Given the description of an element on the screen output the (x, y) to click on. 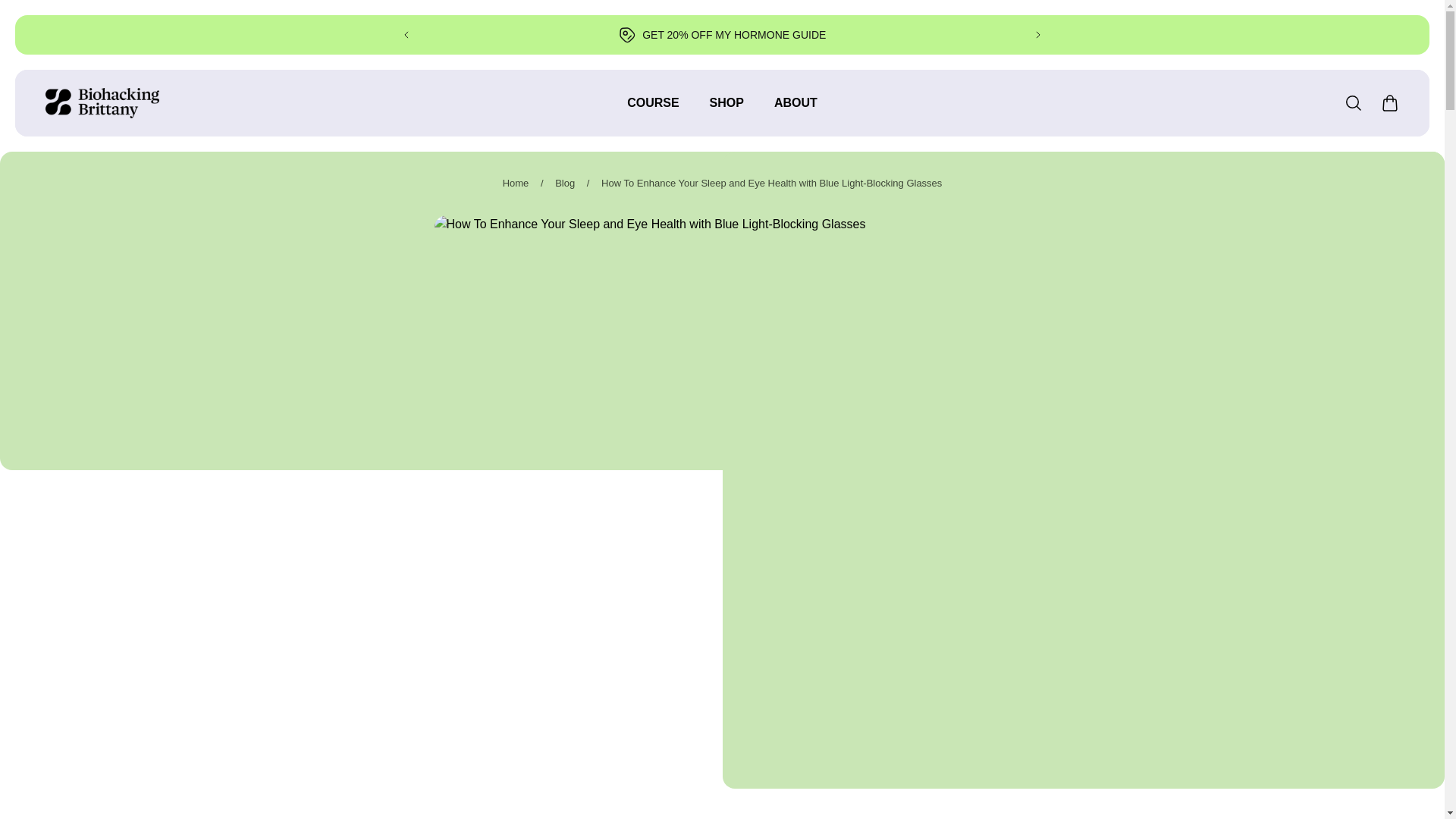
Home (515, 183)
ABOUT (795, 110)
COURSE (652, 110)
SHOP (726, 110)
Blog (564, 183)
